Given the description of an element on the screen output the (x, y) to click on. 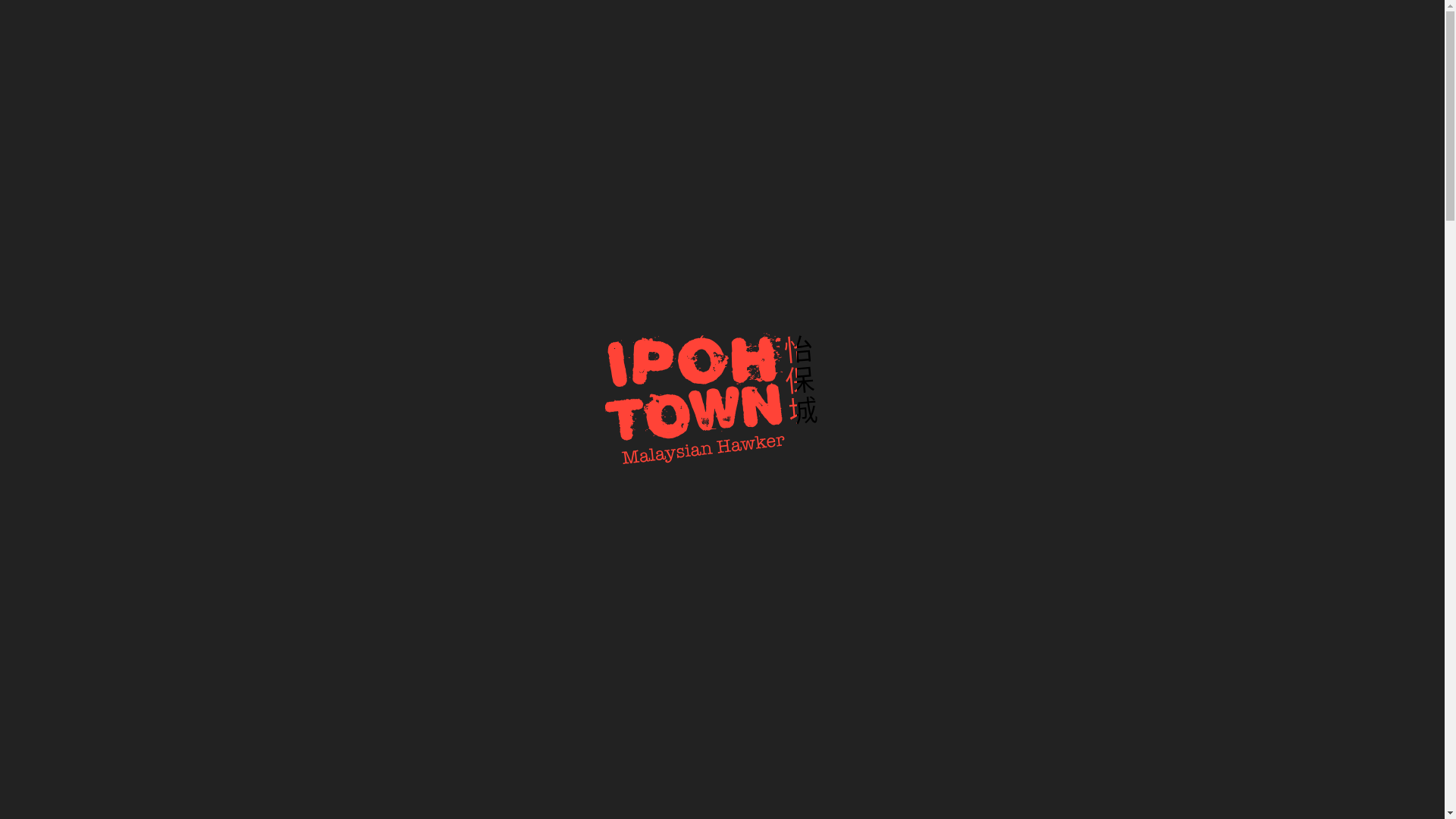
FIND A LOCATION Element type: text (1351, 24)
MENU Element type: text (1139, 24)
FIND A LOCATION Element type: text (801, 471)
EXPERIENCE IPOH Element type: text (1029, 24)
SEE OUR MENU Element type: text (640, 471)
logo-ipoh-town Element type: hover (115, 78)
CONTACT Element type: text (1226, 24)
IPOH HOME Element type: text (902, 24)
HOME Element type: text (810, 24)
